Given the description of an element on the screen output the (x, y) to click on. 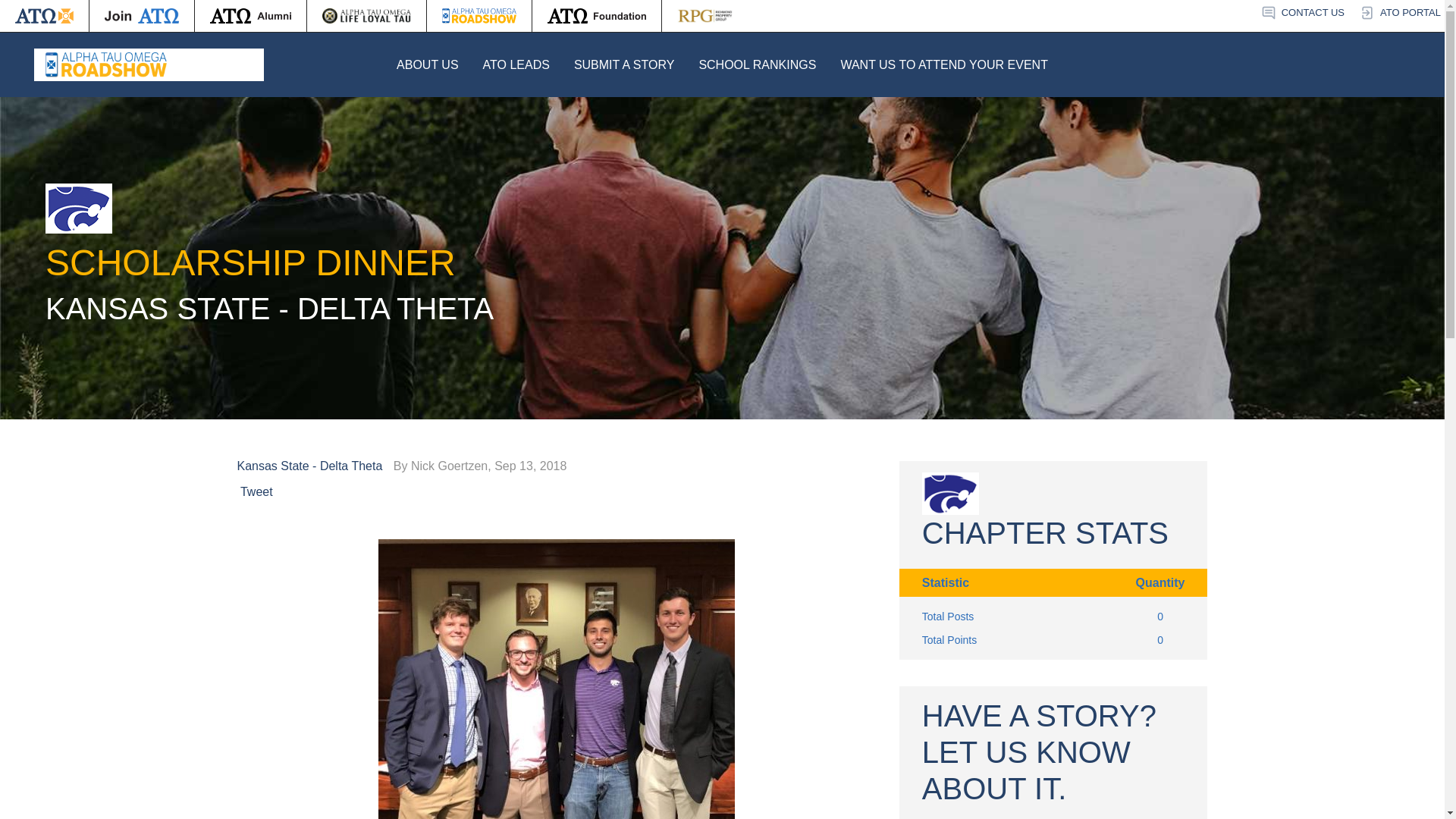
SUBMIT A STORY (624, 64)
ATO PORTAL (1400, 13)
Tweet (256, 491)
Kansas State Delta Theta (312, 465)
SCHOOL RANKINGS (756, 64)
Roadshow (478, 15)
CONTACT US (1301, 13)
Alumni (250, 15)
Foundation (596, 15)
ABOUT US (427, 64)
School Rankings (756, 64)
WANT US TO ATTEND YOUR EVENT (944, 64)
Life Loyal Tau (366, 15)
Want Us To Attend Your Event (944, 64)
ATO Home (44, 15)
